Given the description of an element on the screen output the (x, y) to click on. 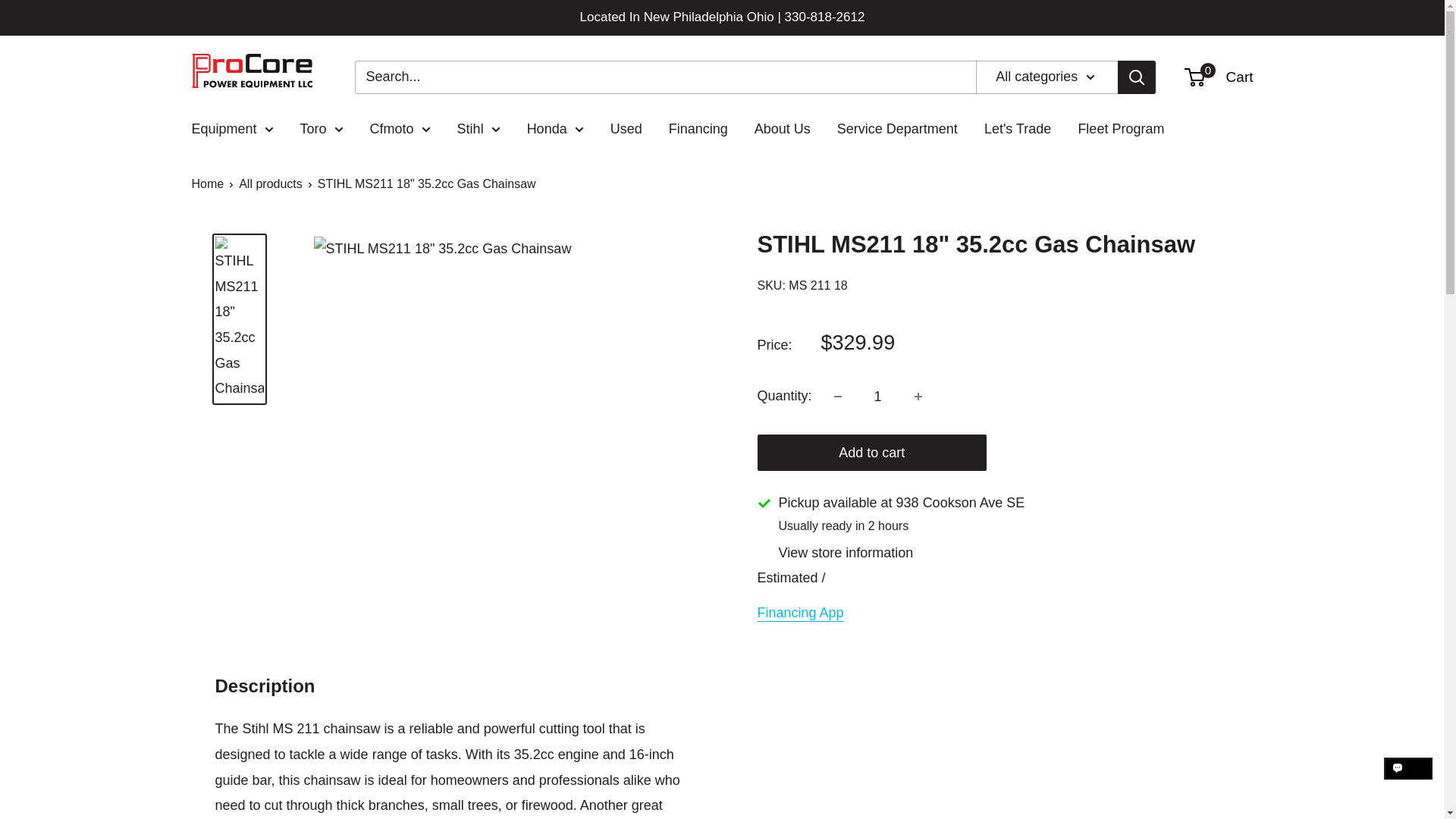
Shopify online store chat (1408, 781)
Increase quantity by 1 (918, 396)
1 (877, 396)
Financing App (800, 612)
Decrease quantity by 1 (837, 396)
